Given the description of an element on the screen output the (x, y) to click on. 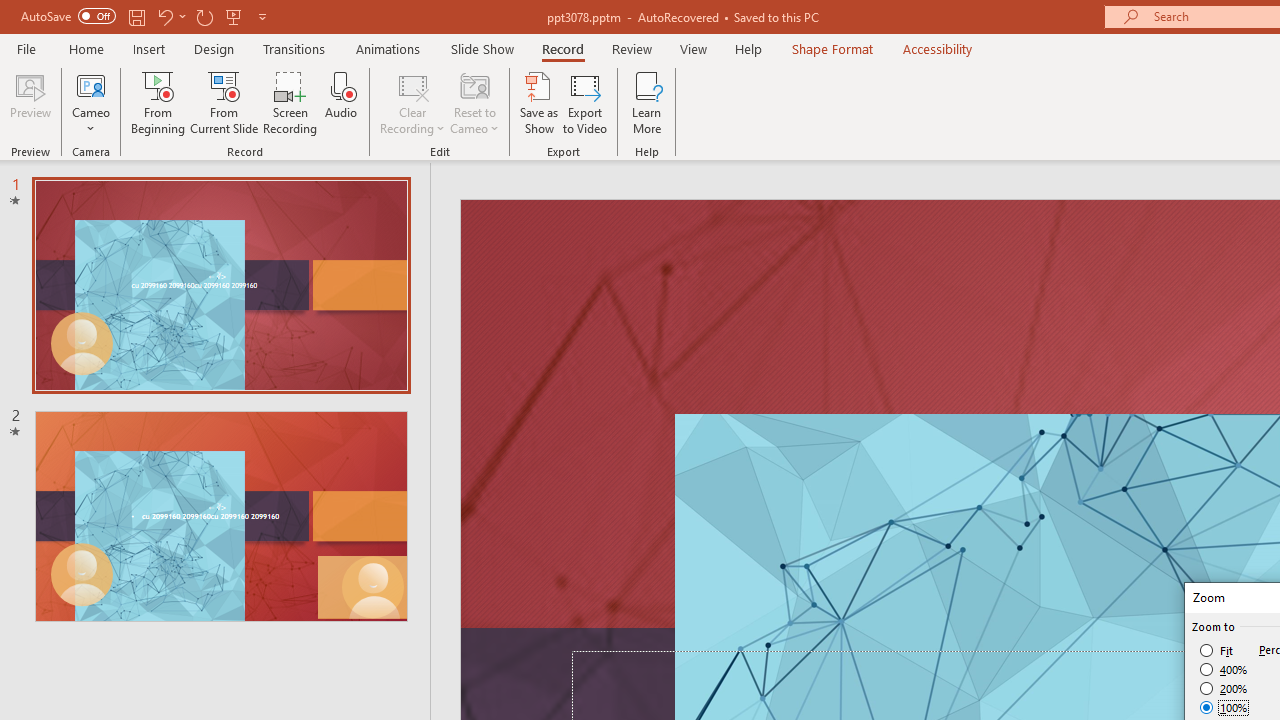
Fit (1217, 650)
